Given the description of an element on the screen output the (x, y) to click on. 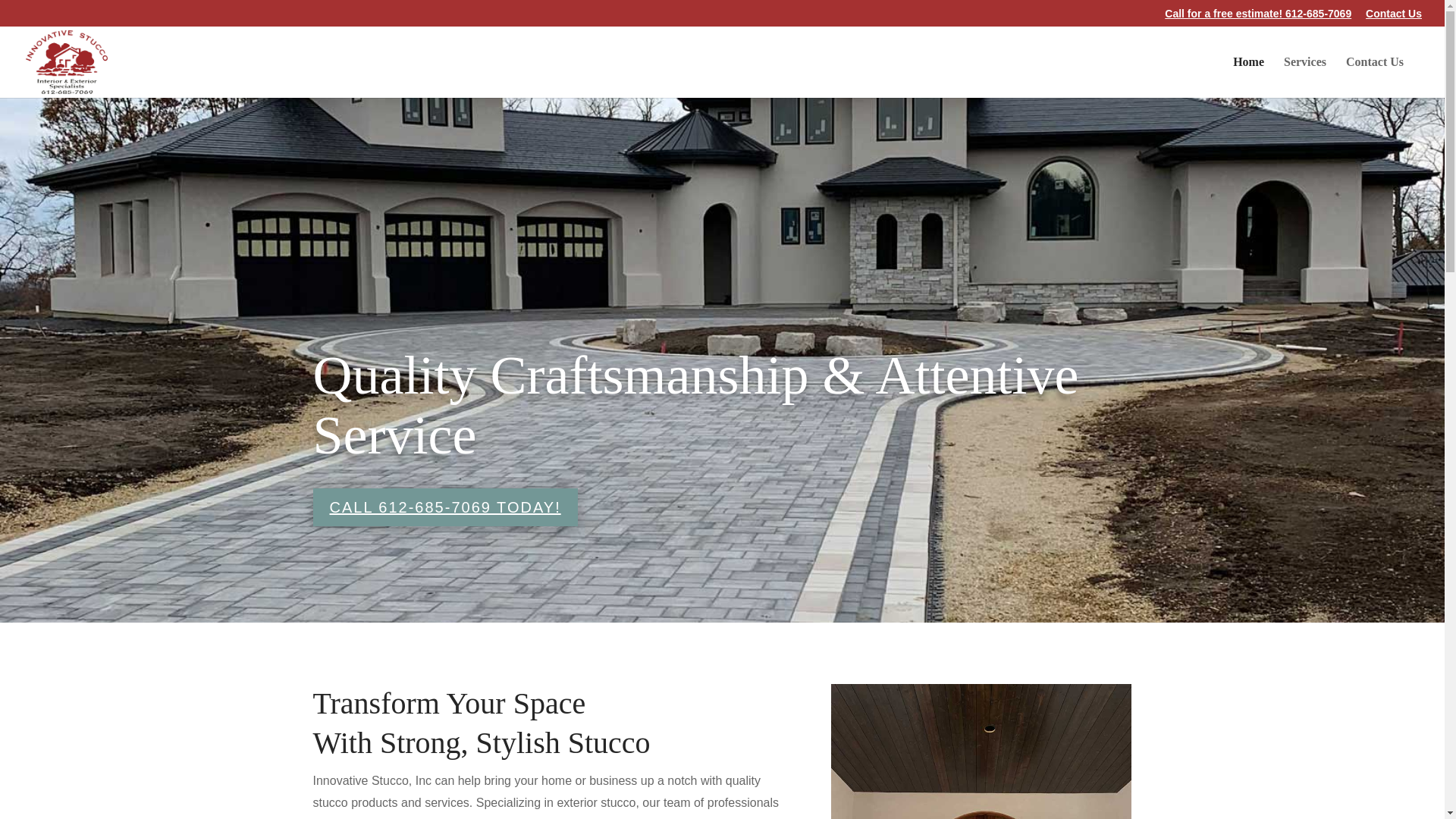
Contact Us (1393, 16)
Contact Us (1374, 76)
Call for a free estimate! 612-685-7069 (1257, 16)
CALL 612-685-7069 TODAY! (444, 507)
Services (1305, 76)
